Given the description of an element on the screen output the (x, y) to click on. 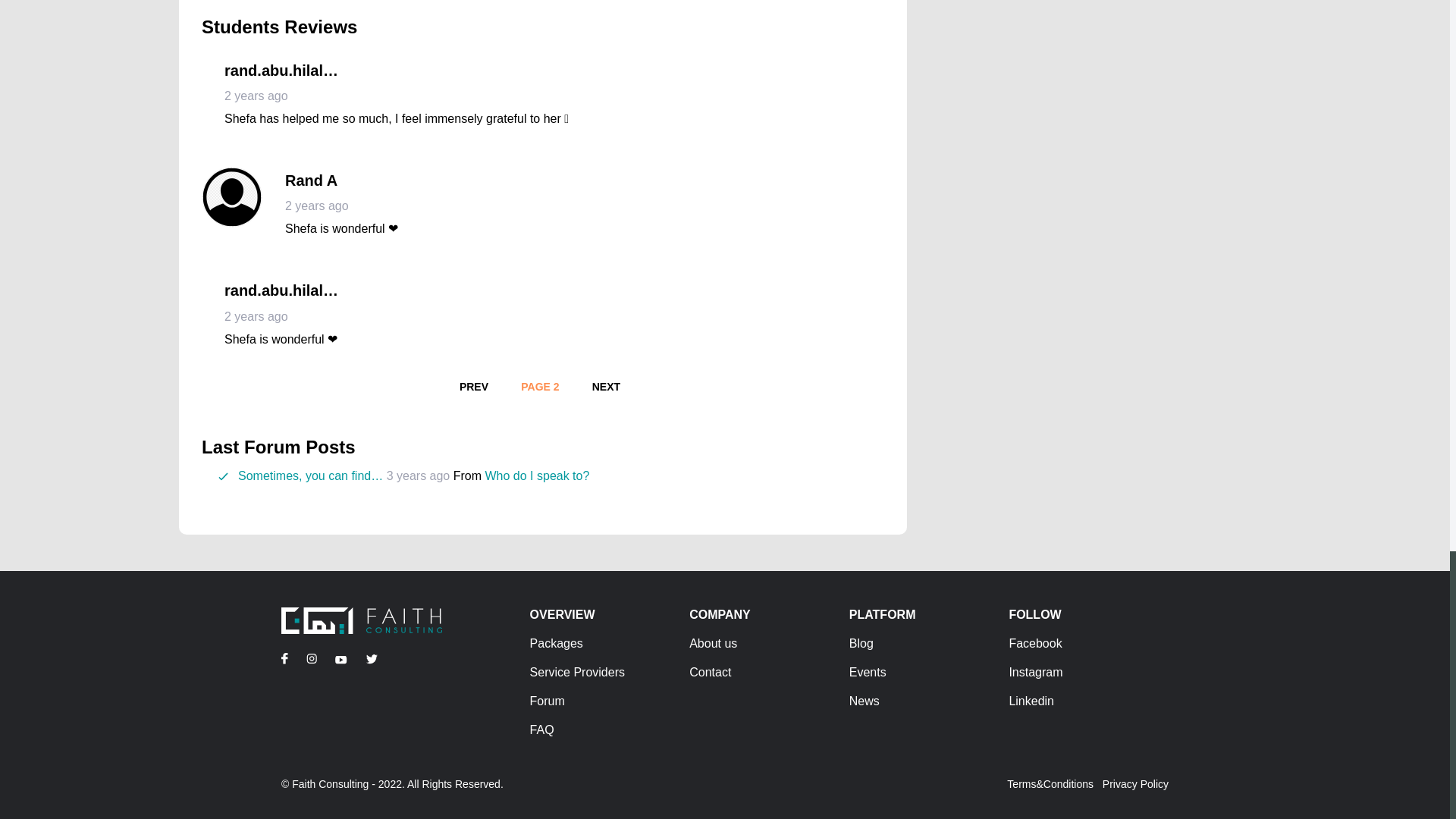
Go to previous page (472, 387)
Twitter (371, 658)
Youtube (340, 658)
Instagram (472, 387)
Who do I speak to? (311, 658)
Go to next page (605, 387)
Rand A (536, 475)
